Given the description of an element on the screen output the (x, y) to click on. 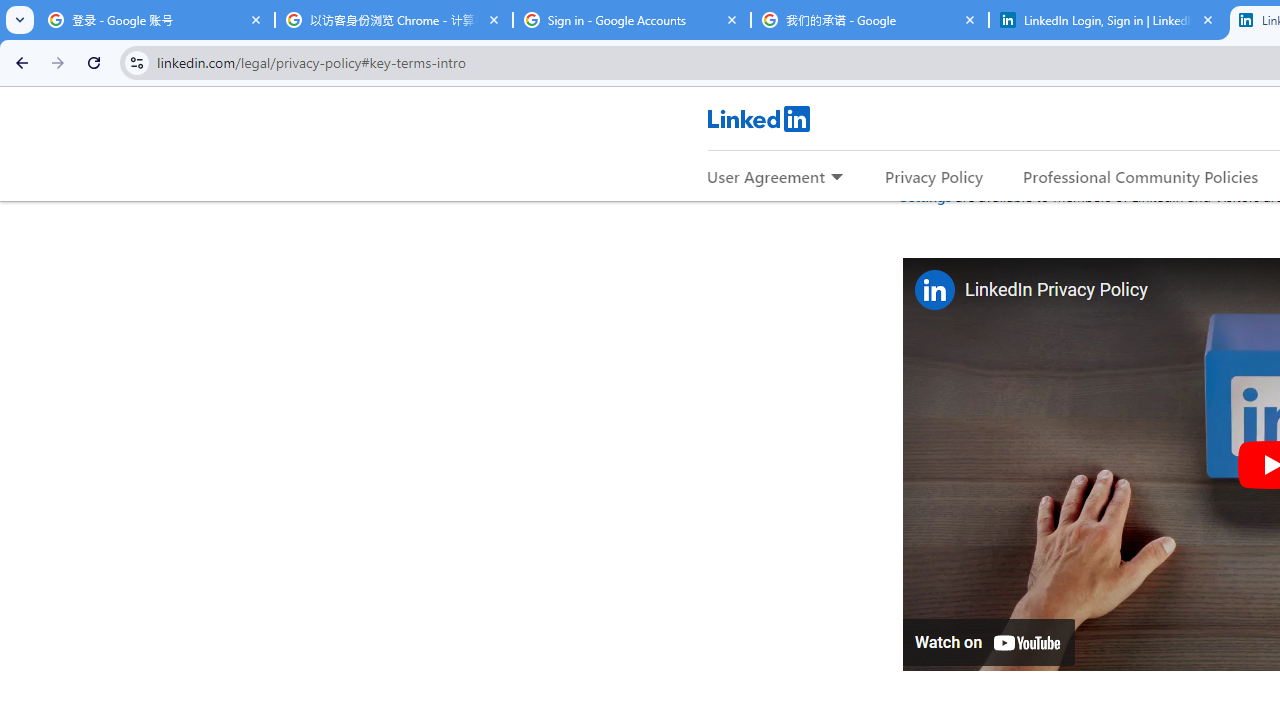
User Agreement (765, 176)
Privacy Policy (934, 176)
LinkedIn Login, Sign in | LinkedIn (1108, 20)
